Given the description of an element on the screen output the (x, y) to click on. 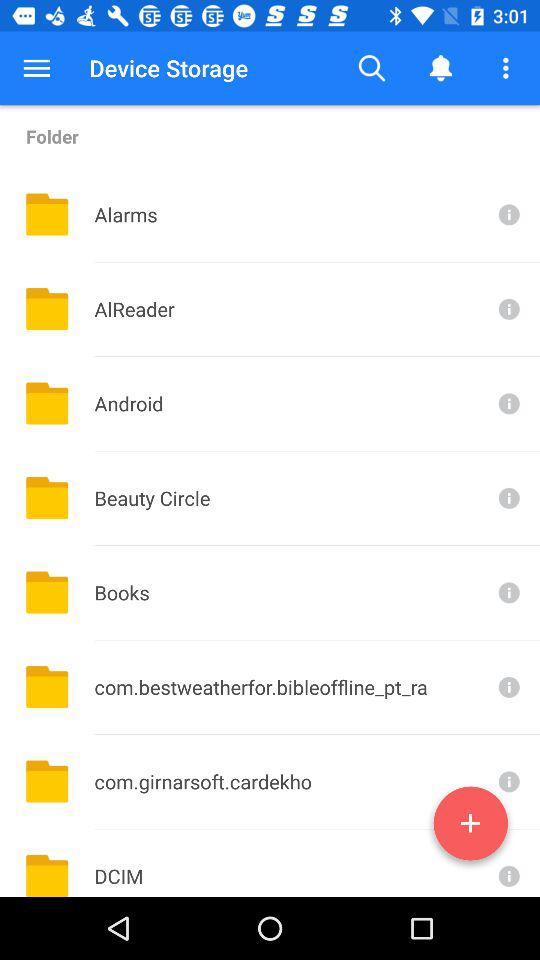
get information on the folder (507, 686)
